Given the description of an element on the screen output the (x, y) to click on. 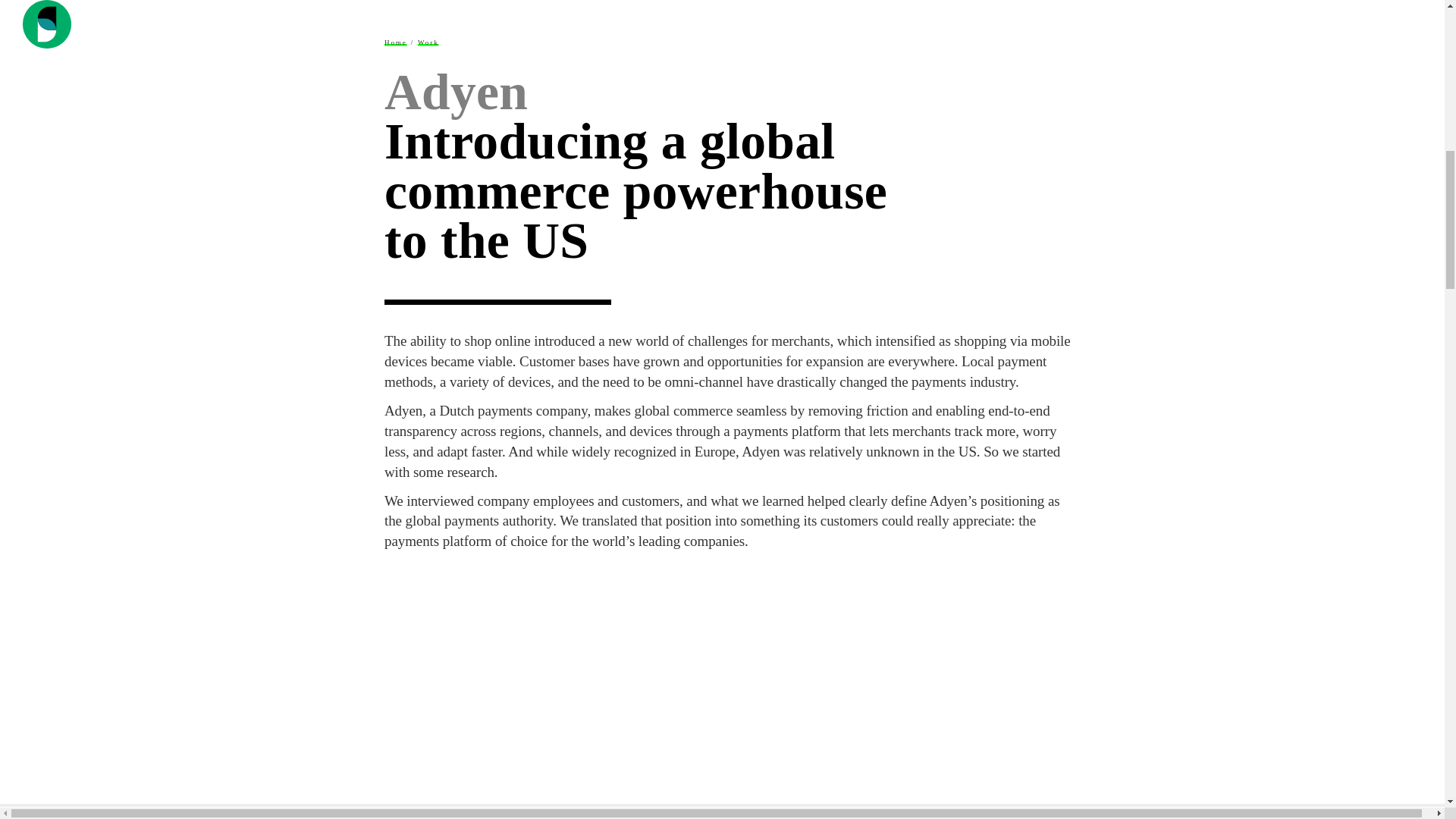
Work (427, 41)
Get in Touch (1384, 6)
Home (395, 41)
